Given the description of an element on the screen output the (x, y) to click on. 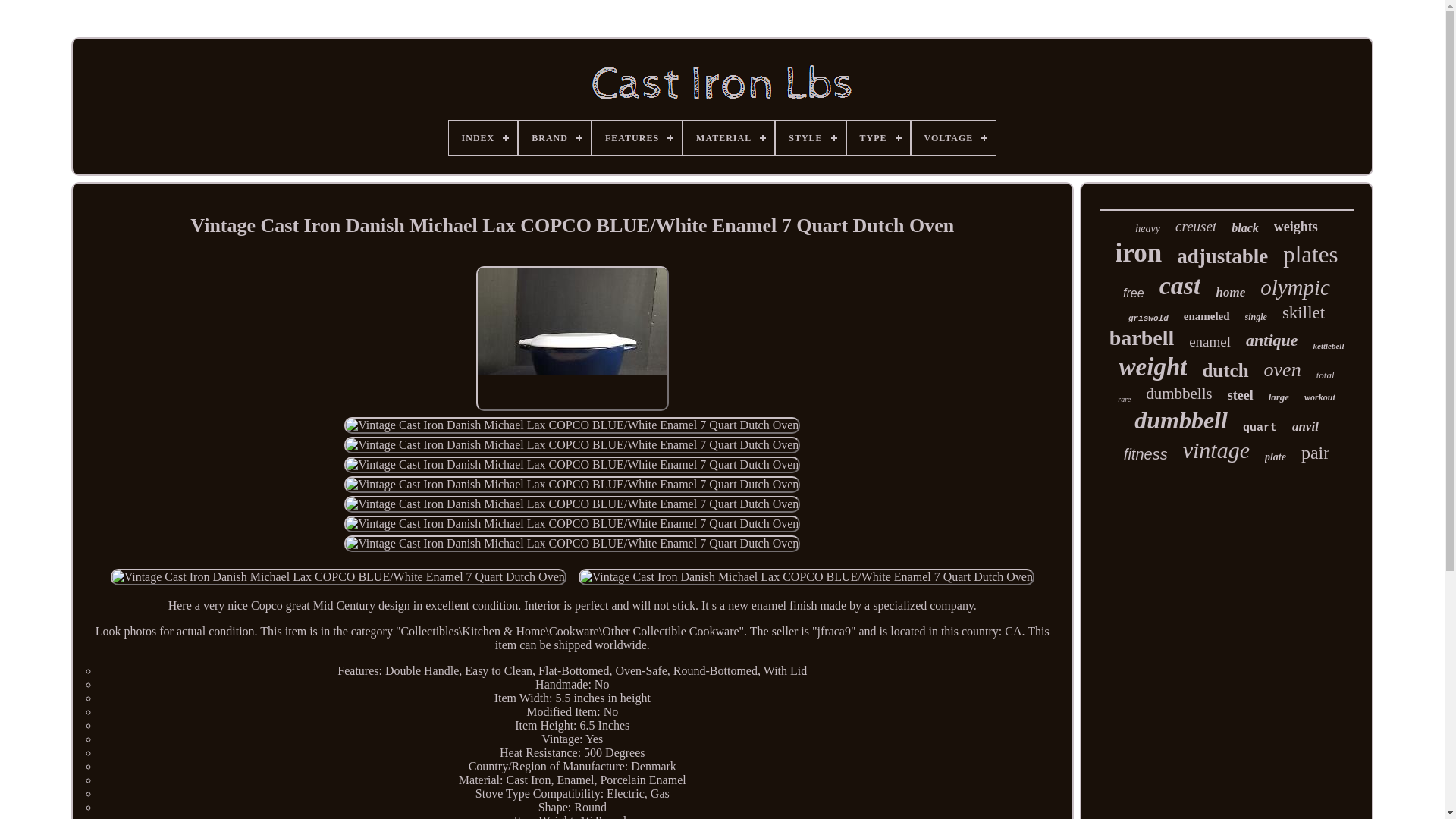
FEATURES (636, 137)
BRAND (554, 137)
INDEX (483, 137)
